Given the description of an element on the screen output the (x, y) to click on. 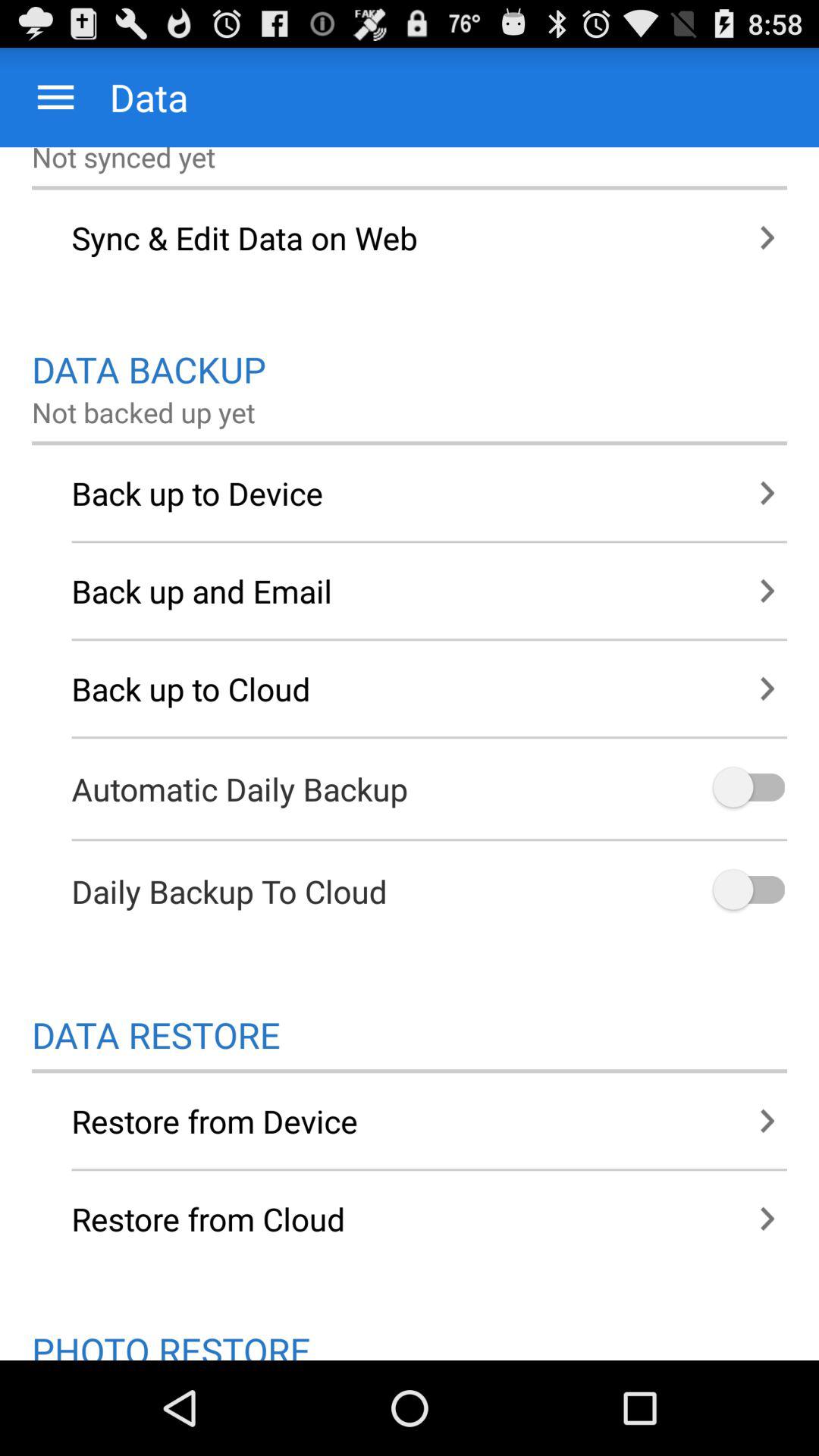
toggle automatic daily backup option (747, 788)
